Given the description of an element on the screen output the (x, y) to click on. 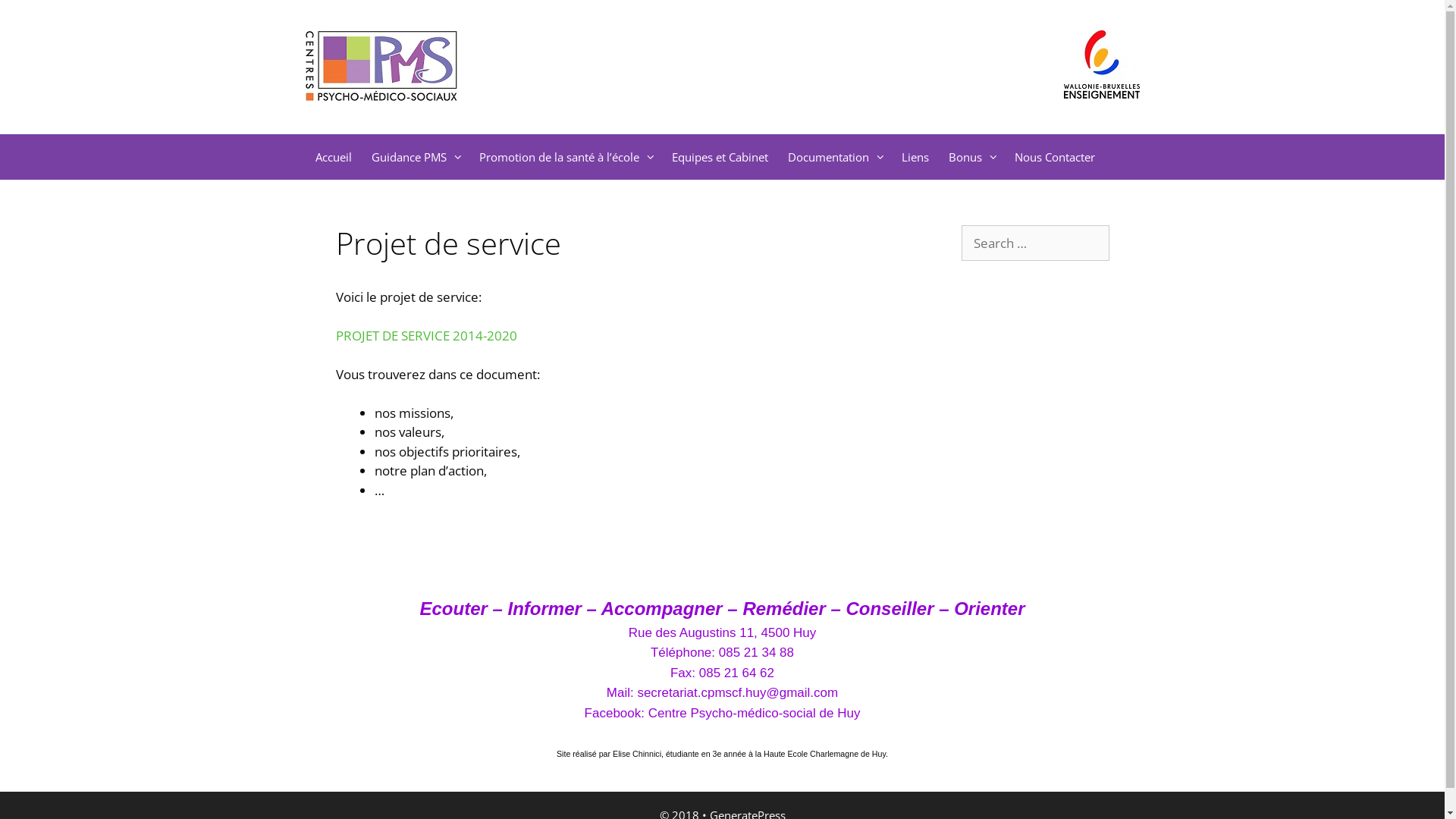
Accueil Element type: text (332, 155)
Guidance PMS Element type: text (414, 155)
Centre PMS WBE de Huy Element type: hover (380, 64)
Documentation Element type: text (834, 155)
Equipes et Cabinet Element type: text (719, 155)
Skip to content Element type: text (0, 0)
Bonus Element type: text (971, 155)
Search for: Element type: hover (1035, 242)
Centre PMS WBE de Huy Element type: hover (380, 65)
PROJET DE SERVICE 2014-2020 Element type: text (425, 334)
Search Element type: text (36, 18)
Liens Element type: text (914, 155)
Nous Contacter Element type: text (1054, 155)
